Given the description of an element on the screen output the (x, y) to click on. 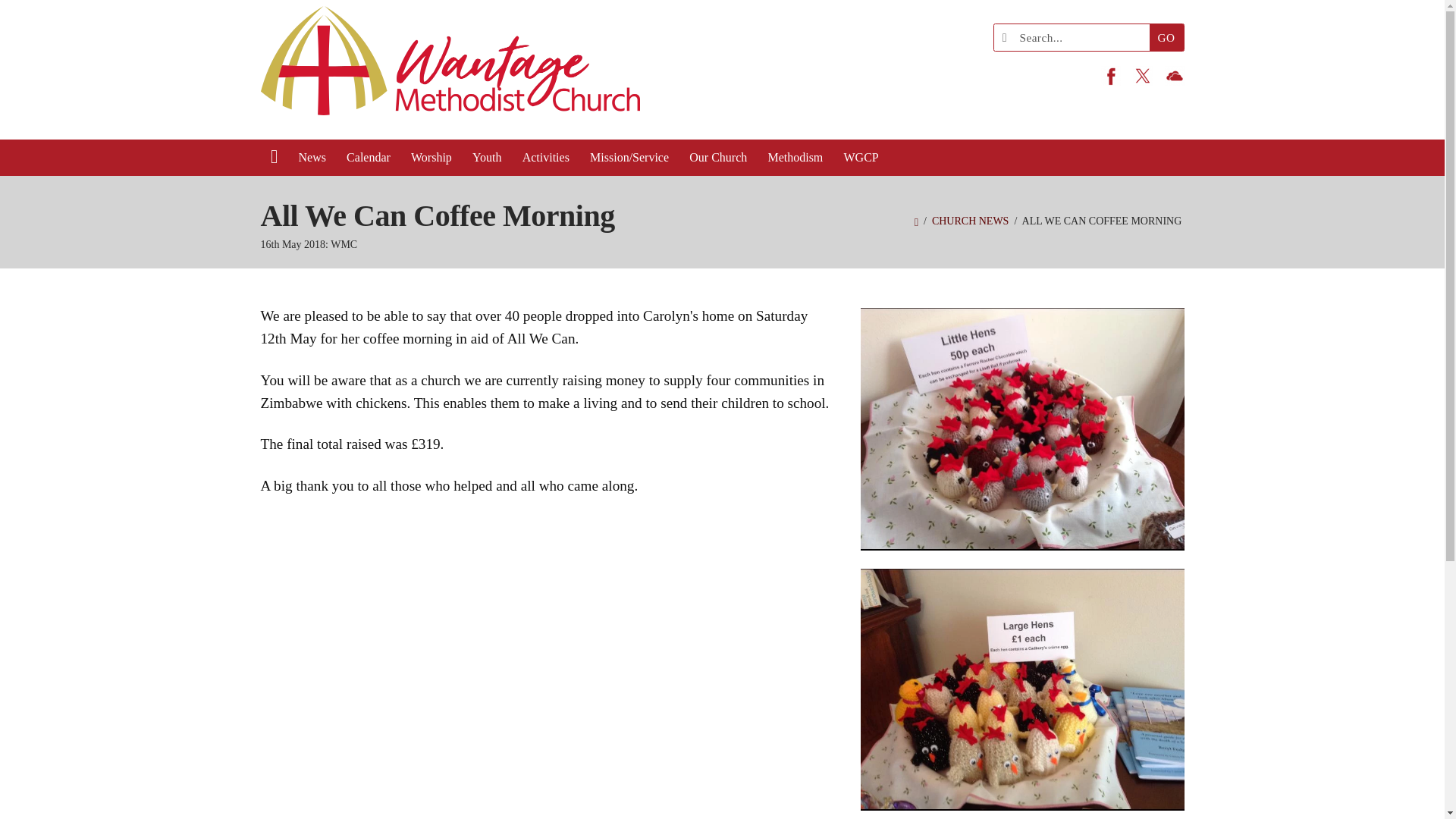
Sign into the Cloud (1174, 75)
Search... (1074, 37)
Visit our X Feed (1142, 75)
Visit our Facebook Page (1110, 75)
Activities (545, 157)
Youth (486, 157)
Worship (430, 157)
Wantage Methodist Church Home (450, 69)
